Given the description of an element on the screen output the (x, y) to click on. 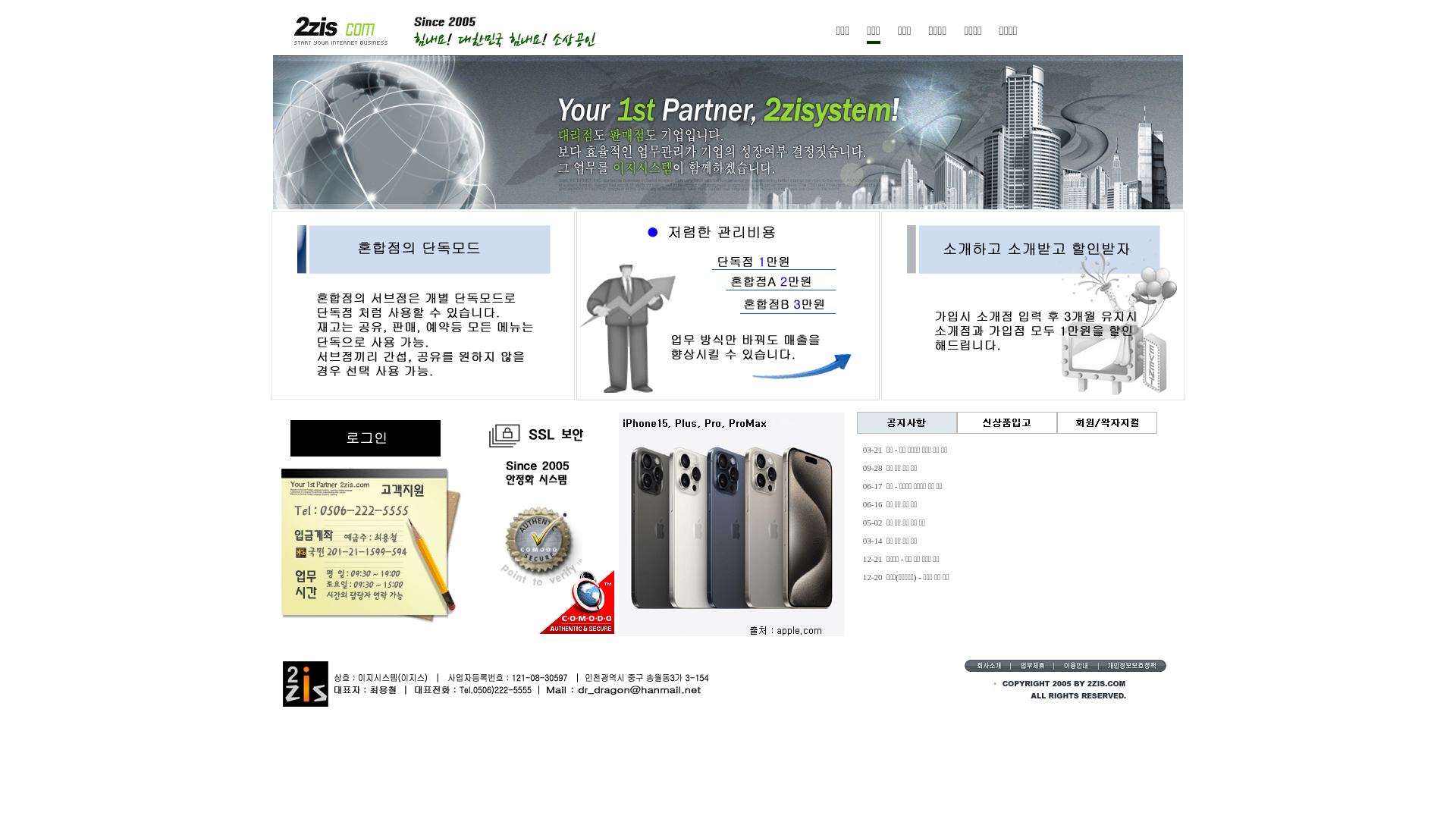
           Element type: text (1105, 662)
                   Element type: text (1143, 662)
            Element type: text (1074, 662)
           Element type: text (1045, 662)
